Given the description of an element on the screen output the (x, y) to click on. 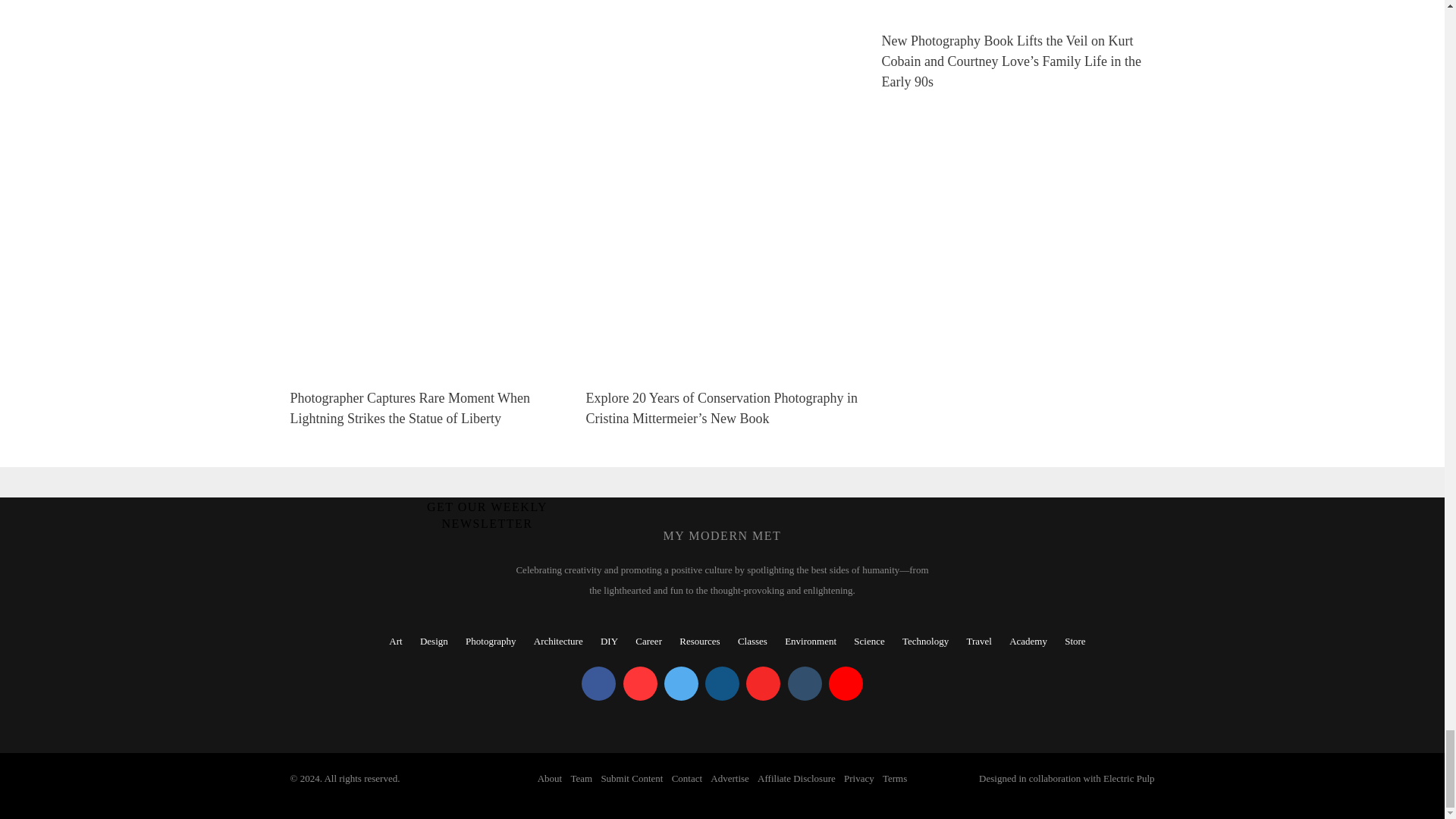
My Modern Met on YouTube (845, 683)
My Modern Met on Facebook (597, 683)
My Modern Met on Pinterest (640, 683)
My Modern Met on Instagram (721, 683)
My Modern Met on Twitter (680, 683)
My Modern Met on Tumblr (804, 683)
